Given the description of an element on the screen output the (x, y) to click on. 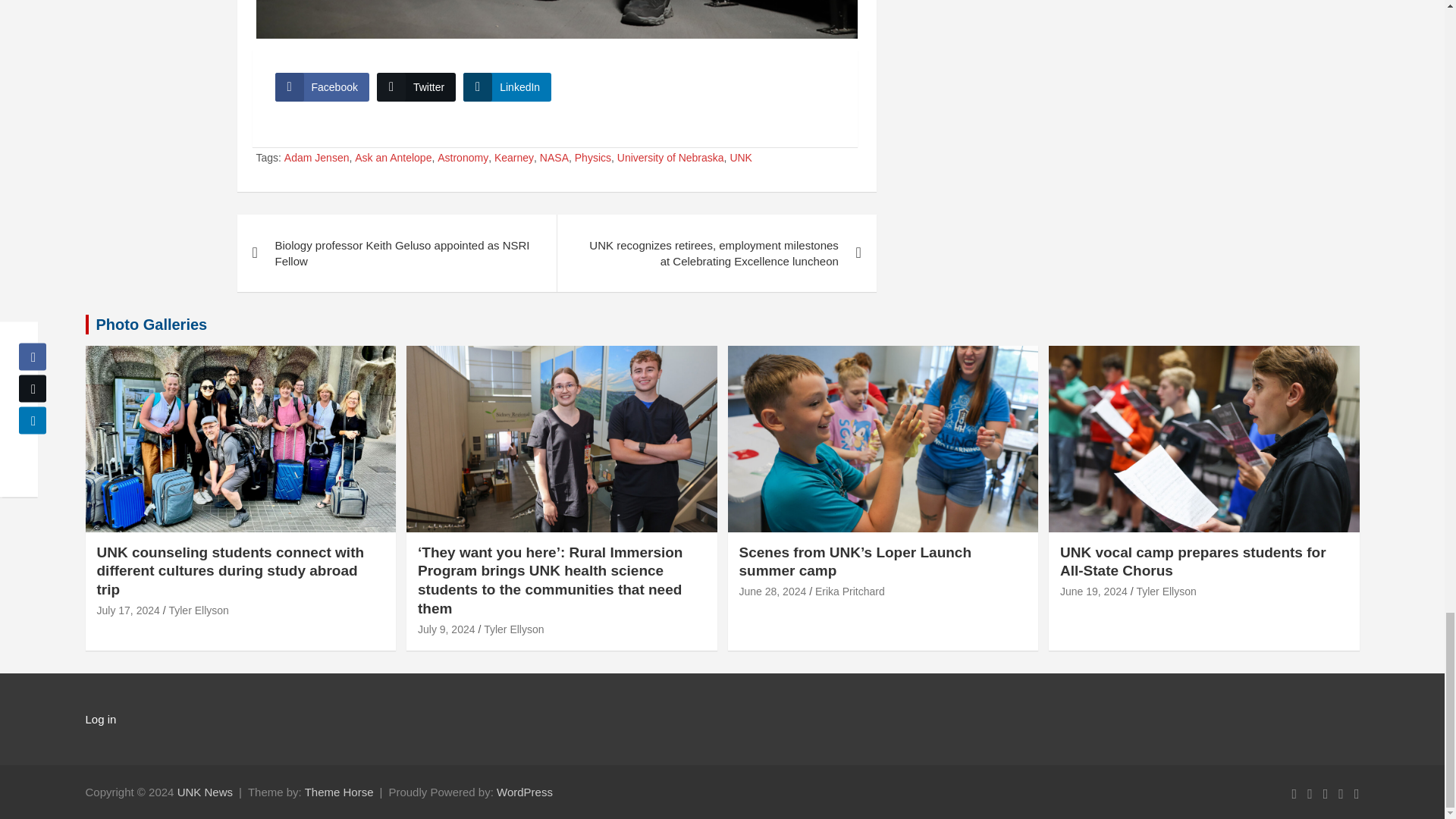
NASA (554, 158)
Facebook (321, 86)
Biology professor Keith Geluso appointed as NSRI Fellow (395, 252)
UNK News (204, 791)
Physics (593, 158)
Ask an Antelope (392, 158)
Adam Jensen (316, 158)
UNK vocal camp prepares students for All-State Chorus (1092, 591)
Twitter (416, 86)
Theme Horse (339, 791)
Kearney (514, 158)
LinkedIn (507, 86)
University of Nebraska (670, 158)
WordPress (524, 791)
